Given the description of an element on the screen output the (x, y) to click on. 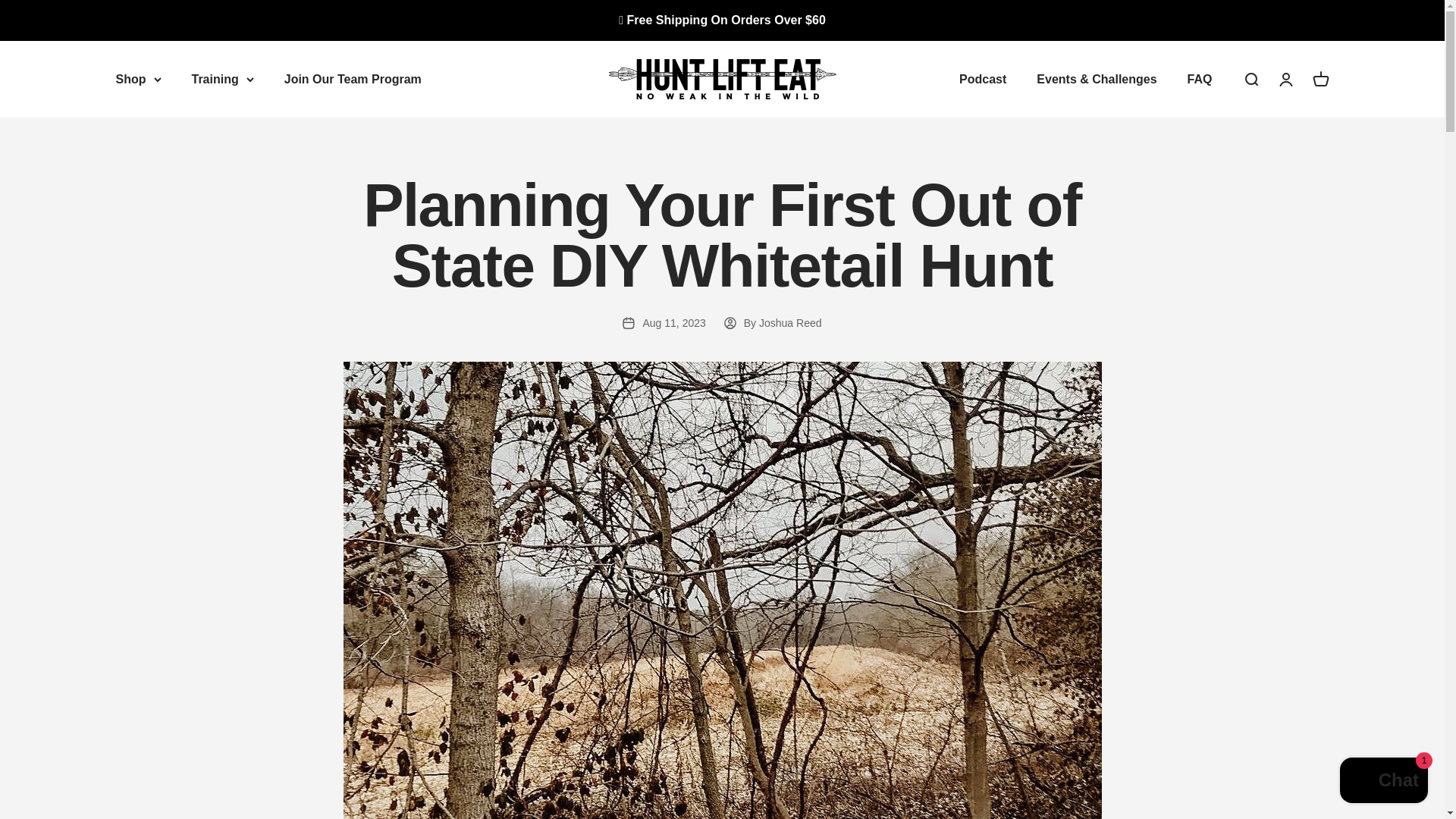
FAQ (1200, 78)
Join Our Team Program (352, 78)
Open account page (1285, 78)
Hunt Lift Eat (721, 78)
Podcast (982, 78)
Shopify online store chat (1383, 781)
Open search (1250, 78)
